Given the description of an element on the screen output the (x, y) to click on. 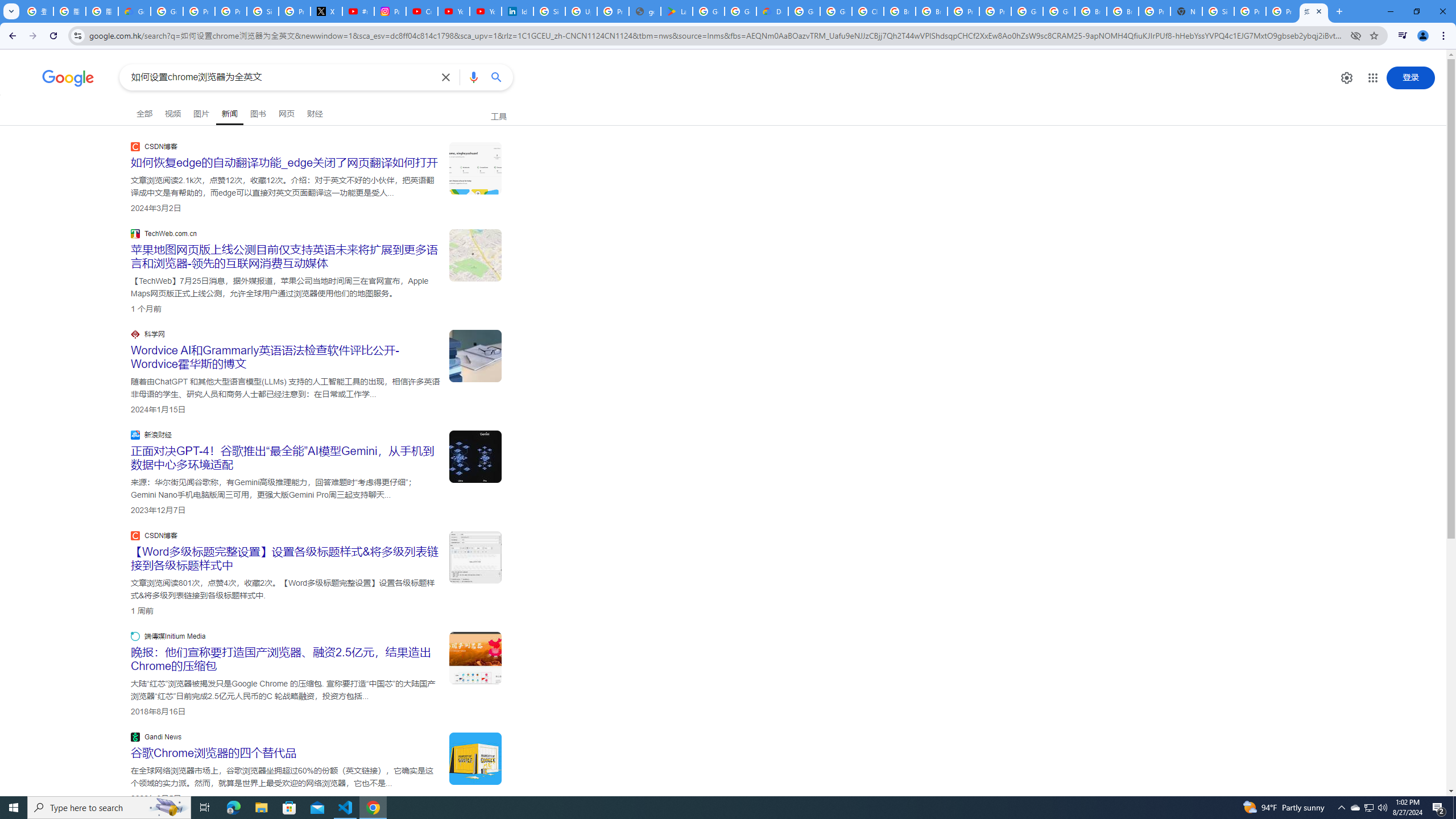
Google Cloud Platform (804, 11)
X (326, 11)
New Tab (1185, 11)
Google Workspace - Specific Terms (740, 11)
